Given the description of an element on the screen output the (x, y) to click on. 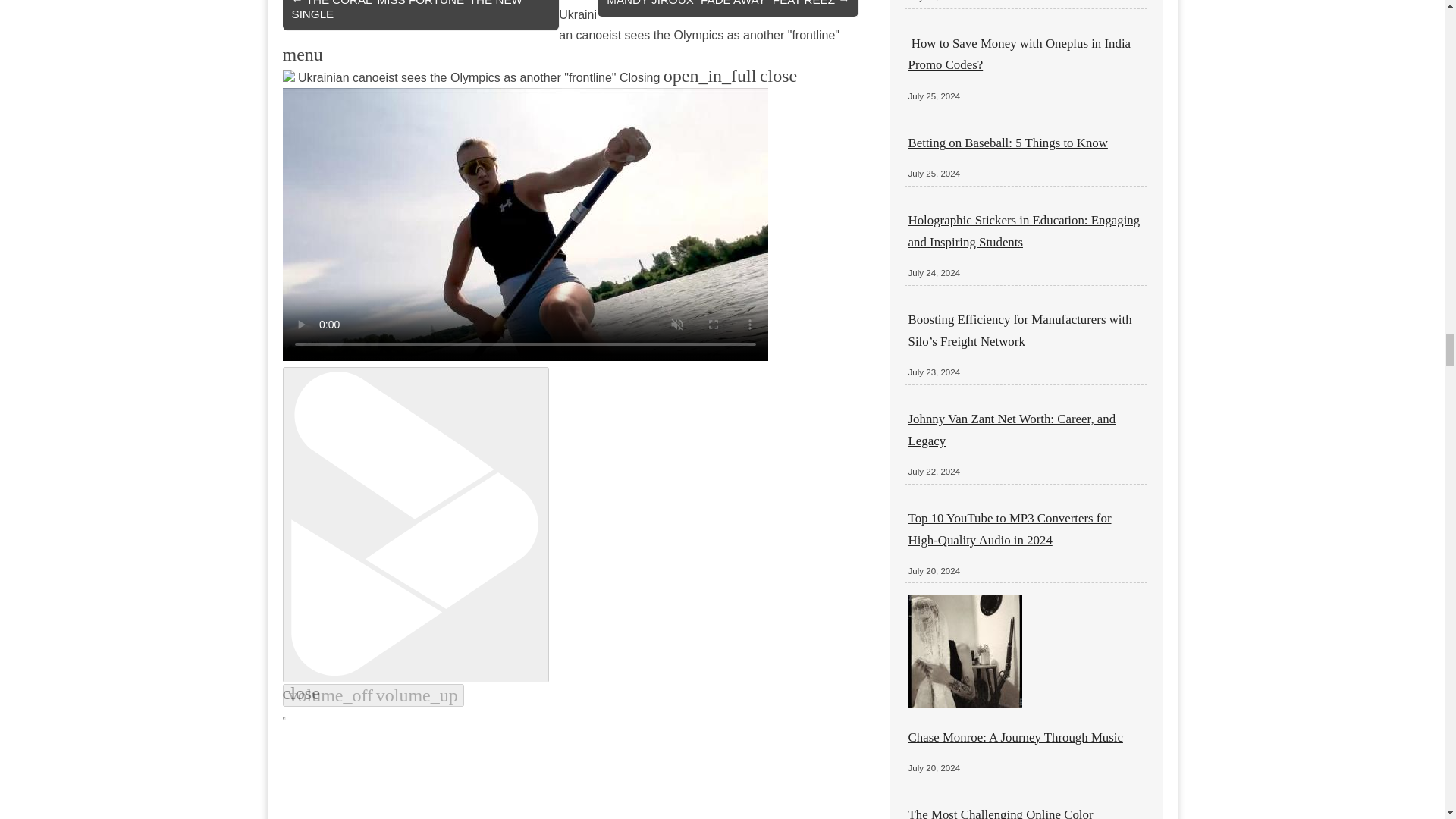
 How to Save Money with Oneplus in India Promo Codes? (1019, 54)
Betting on Baseball: 5 Things to Know (1008, 142)
Chase Monroe: A Journey Through Music (1015, 737)
Johnny Van Zant Net Worth: Career, and Legacy (1012, 429)
